Given the description of an element on the screen output the (x, y) to click on. 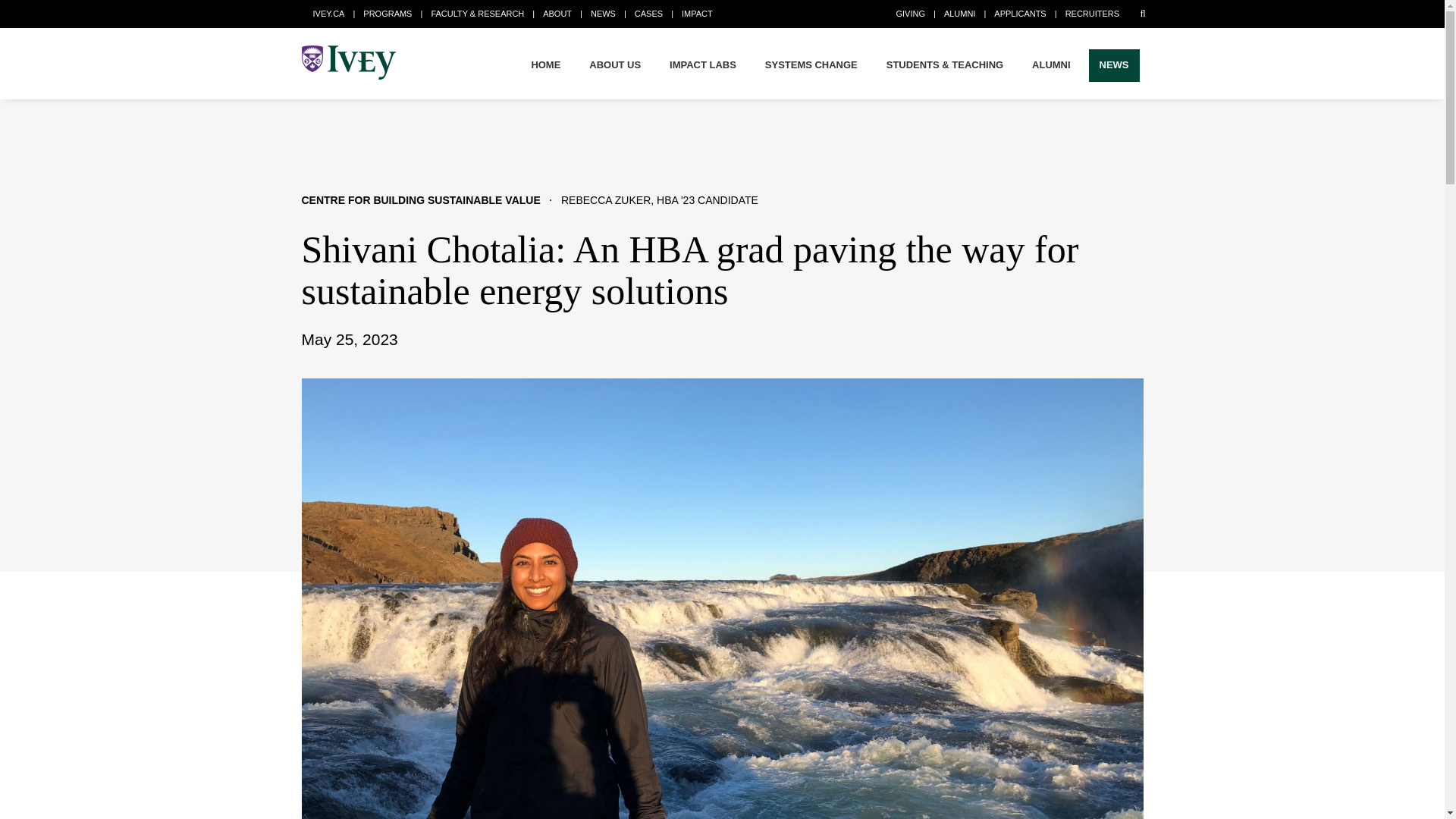
NEWS (603, 13)
IVEY.CA (328, 13)
PROGRAMS (387, 13)
Ivey Programs (387, 13)
ABOUT (557, 13)
